Given the description of an element on the screen output the (x, y) to click on. 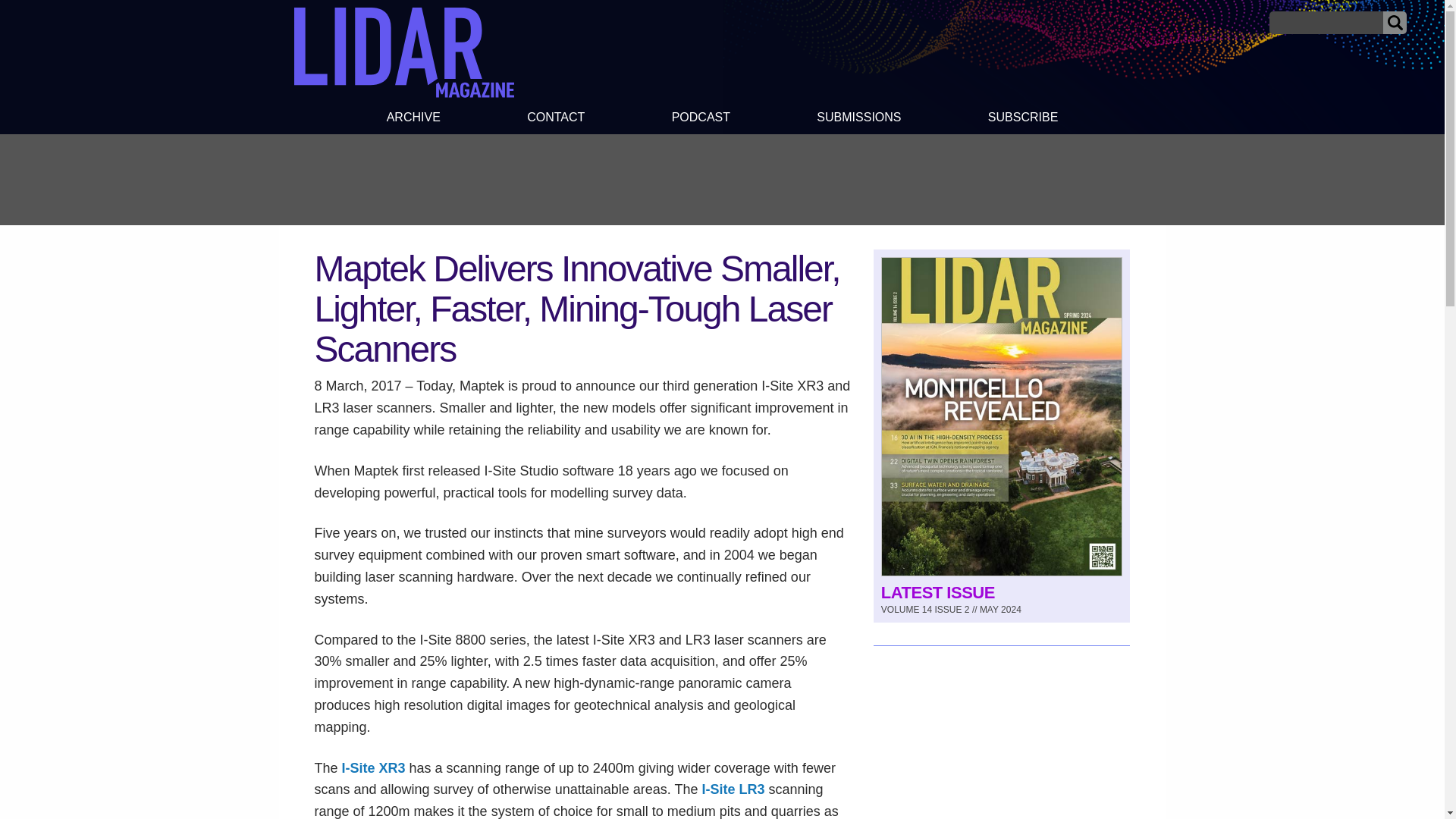
ARCHIVE (412, 119)
I-Site LR3 (732, 789)
Submit (1394, 22)
LIDAR Magazine (403, 52)
I-Site XR3 (374, 767)
SUBMISSIONS (858, 119)
CONTACT (555, 119)
Submit (1394, 22)
PODCAST (700, 119)
3rd party ad content (1001, 744)
Search for: (1326, 22)
Submit (1394, 22)
SUBSCRIBE (1023, 119)
LIDAR Magazine (403, 92)
3rd party ad content (721, 179)
